Given the description of an element on the screen output the (x, y) to click on. 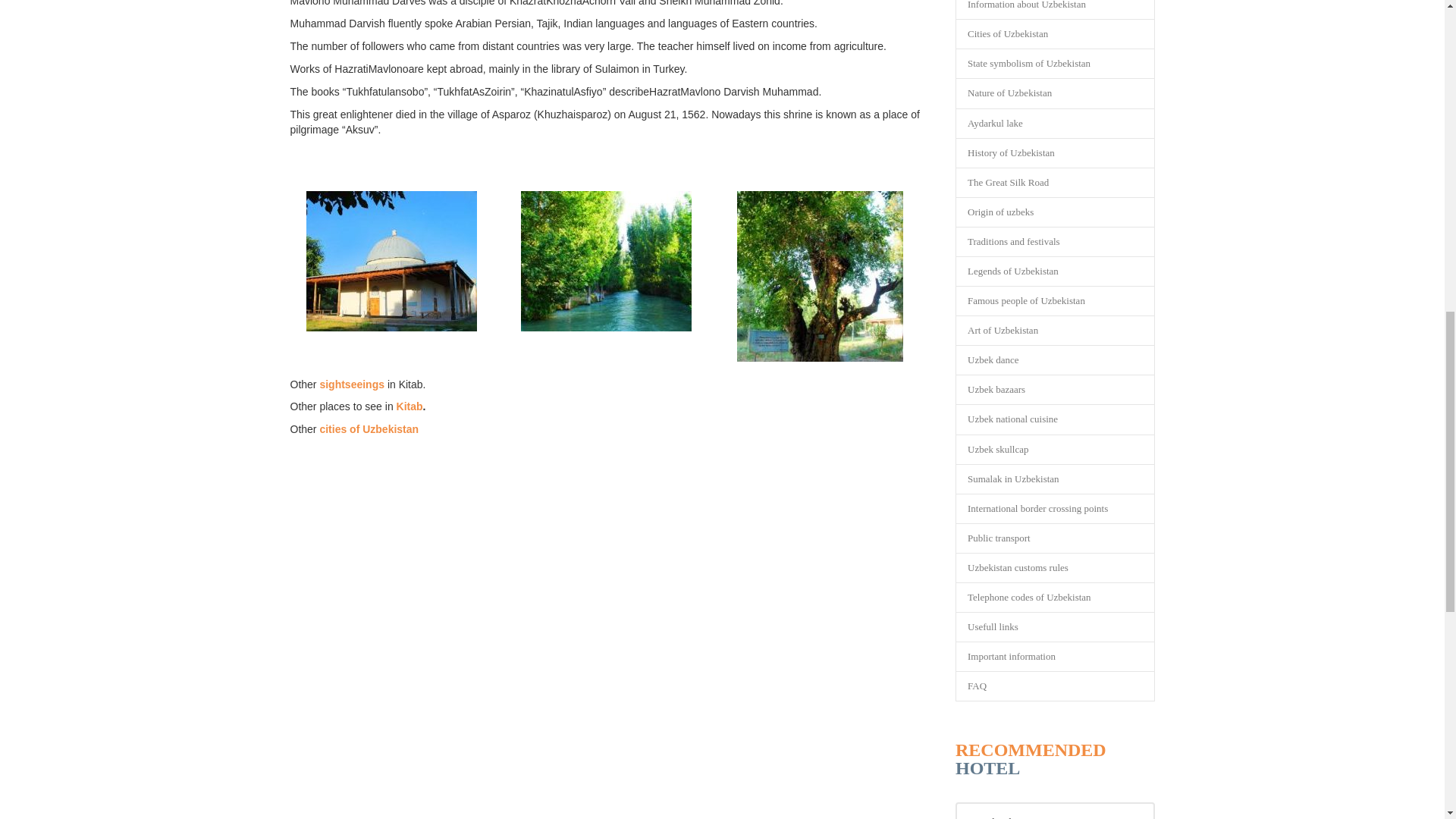
cities of Uzbekistan (368, 428)
Kitab (409, 406)
sightseeings (351, 383)
